Given the description of an element on the screen output the (x, y) to click on. 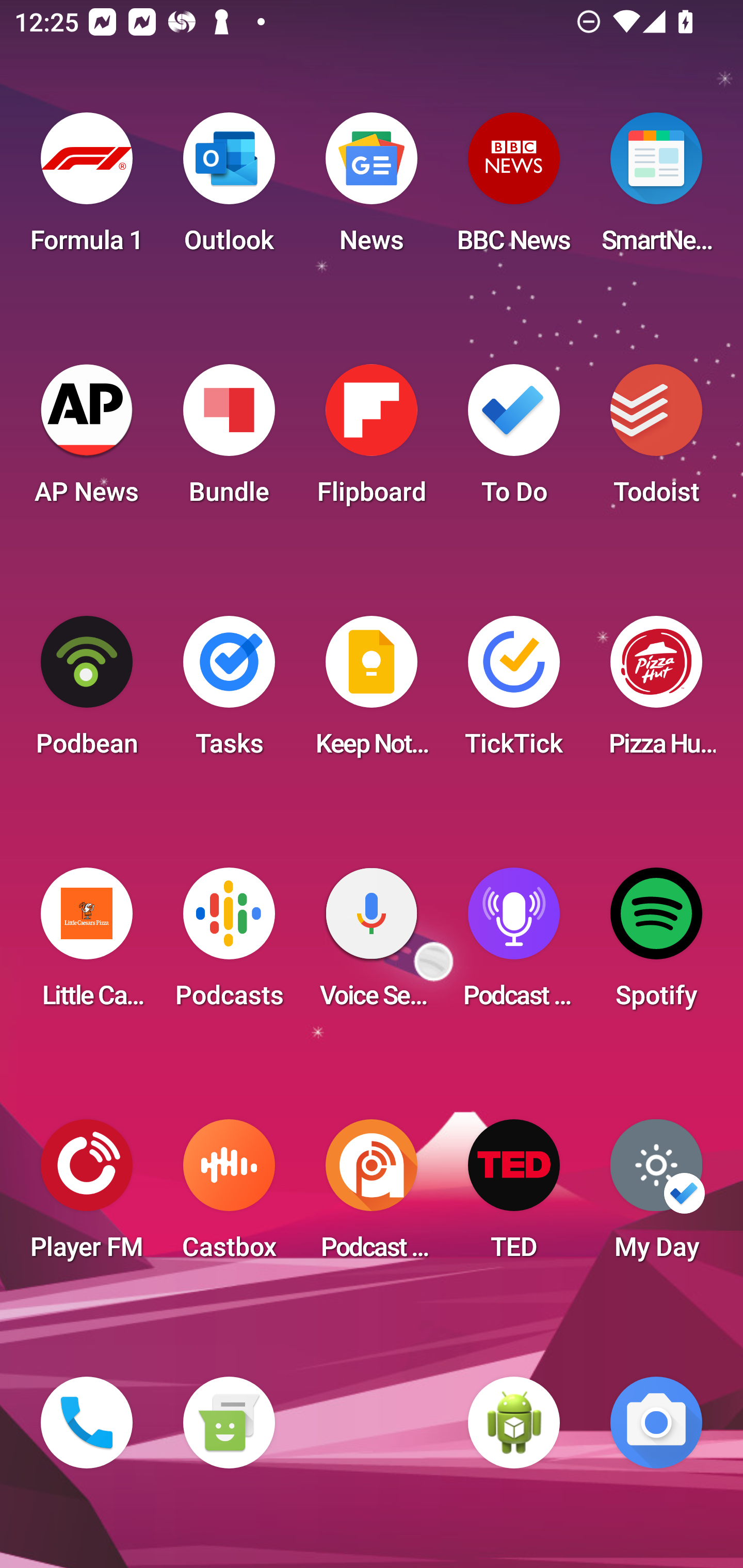
Formula 1 (86, 188)
Outlook (228, 188)
News (371, 188)
BBC News (513, 188)
SmartNews (656, 188)
AP News (86, 440)
Bundle (228, 440)
Flipboard (371, 440)
To Do (513, 440)
Todoist (656, 440)
Podbean (86, 692)
Tasks (228, 692)
Keep Notes (371, 692)
TickTick (513, 692)
Pizza Hut HK & Macau (656, 692)
Little Caesars Pizza (86, 943)
Podcasts (228, 943)
Voice Search (371, 943)
Podcast Player (513, 943)
Spotify (656, 943)
Player FM (86, 1195)
Castbox (228, 1195)
Podcast Addict (371, 1195)
TED (513, 1195)
My Day (656, 1195)
Phone (86, 1422)
Messaging (228, 1422)
WebView Browser Tester (513, 1422)
Camera (656, 1422)
